Given the description of an element on the screen output the (x, y) to click on. 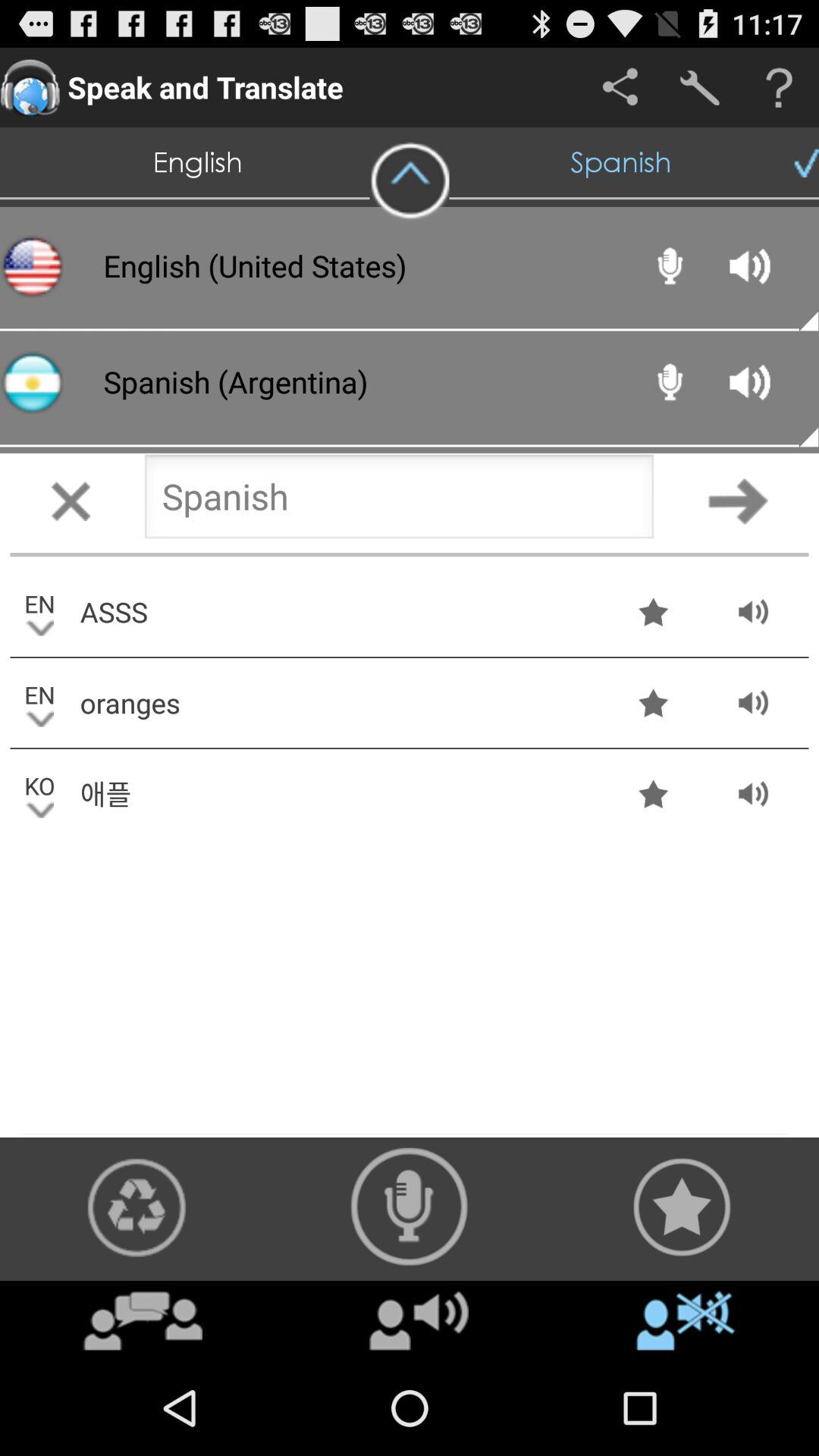
go to previous (399, 500)
